Given the description of an element on the screen output the (x, y) to click on. 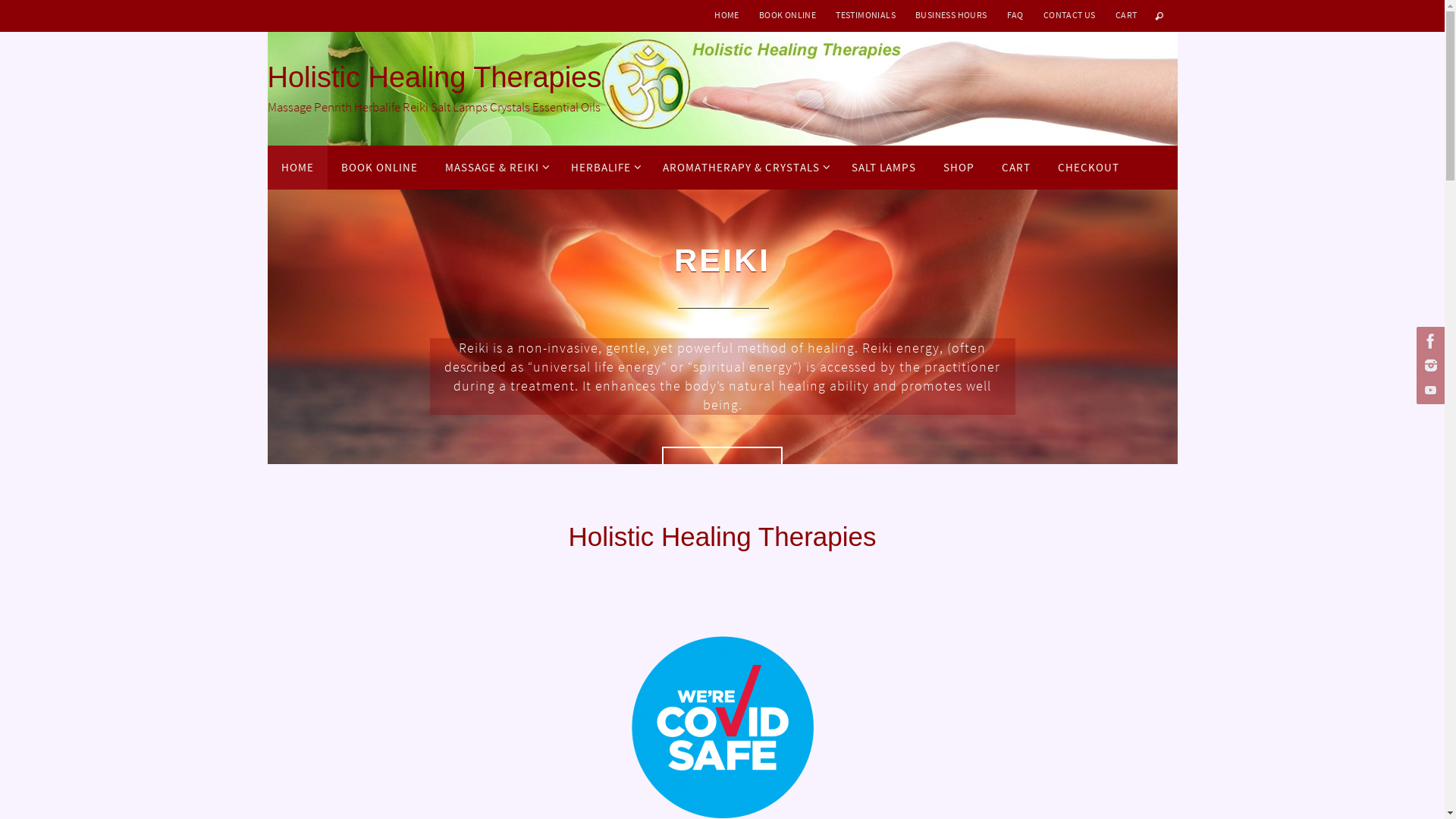
MASSAGE & REIKI Element type: text (493, 167)
CART Element type: text (1015, 167)
YouTube Element type: hover (1428, 389)
CART Element type: text (1126, 15)
Facebook Element type: hover (1428, 340)
SHOP Element type: text (958, 167)
READ MORE Element type: text (722, 444)
Holistic Healing Therapies Element type: text (433, 77)
SALT LAMPS Element type: text (882, 167)
BUSINESS HOURS Element type: text (950, 15)
AROMATHERAPY & CRYSTALS Element type: text (743, 167)
HOME Element type: text (726, 15)
BOOK ONLINE Element type: text (379, 167)
Skip to content Element type: text (266, 171)
CHECKOUT Element type: text (1087, 167)
Holistic Healing Therapies Element type: hover (721, 88)
HOME Element type: text (296, 167)
BOOK ONLINE Element type: text (787, 15)
HERBALIFE Element type: text (602, 167)
Instagram Element type: hover (1428, 365)
TESTIMONIALS Element type: text (865, 15)
FAQ Element type: text (1015, 15)
CONTACT US Element type: text (1069, 15)
